Given the description of an element on the screen output the (x, y) to click on. 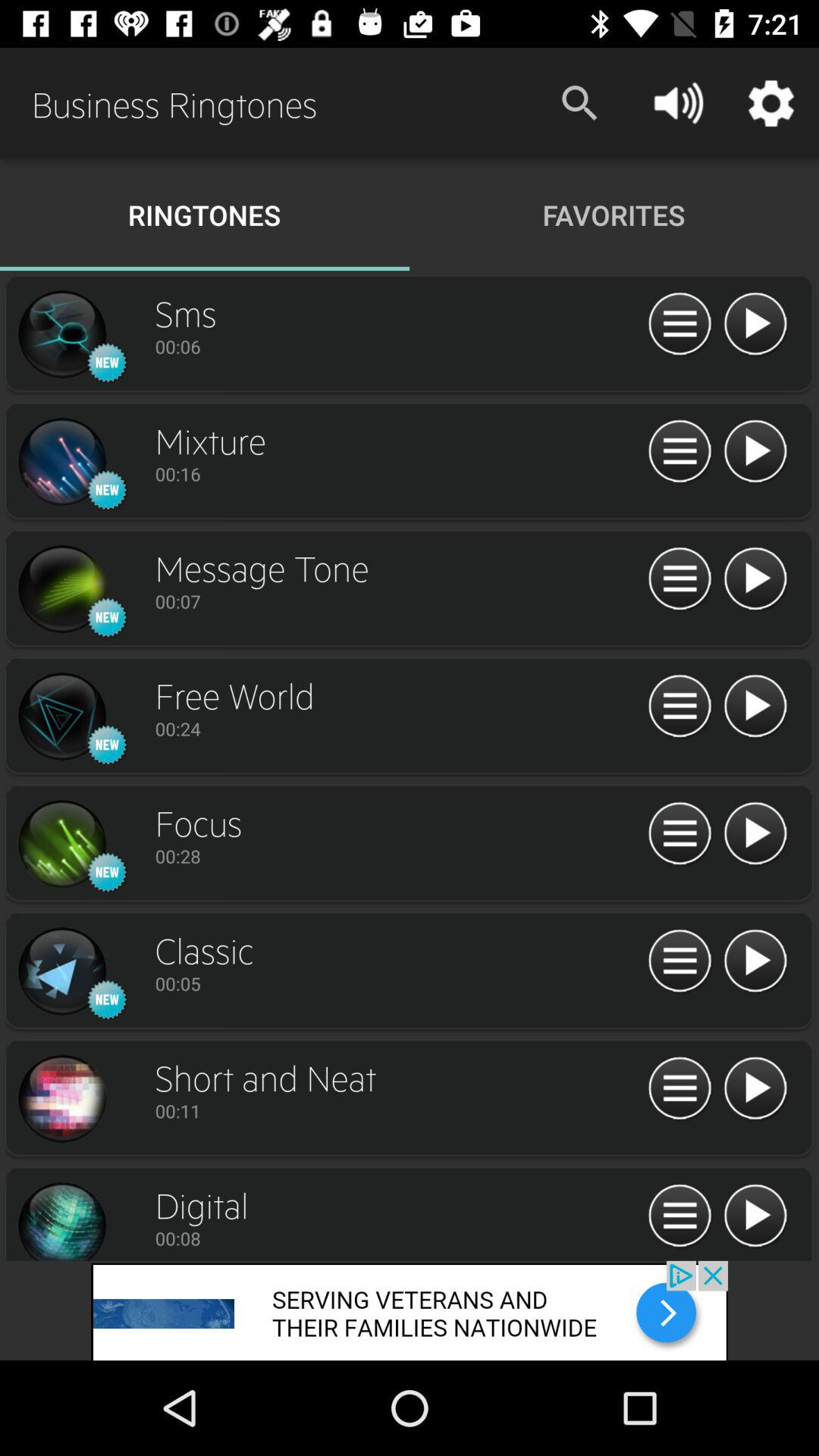
go to next (61, 1099)
